Given the description of an element on the screen output the (x, y) to click on. 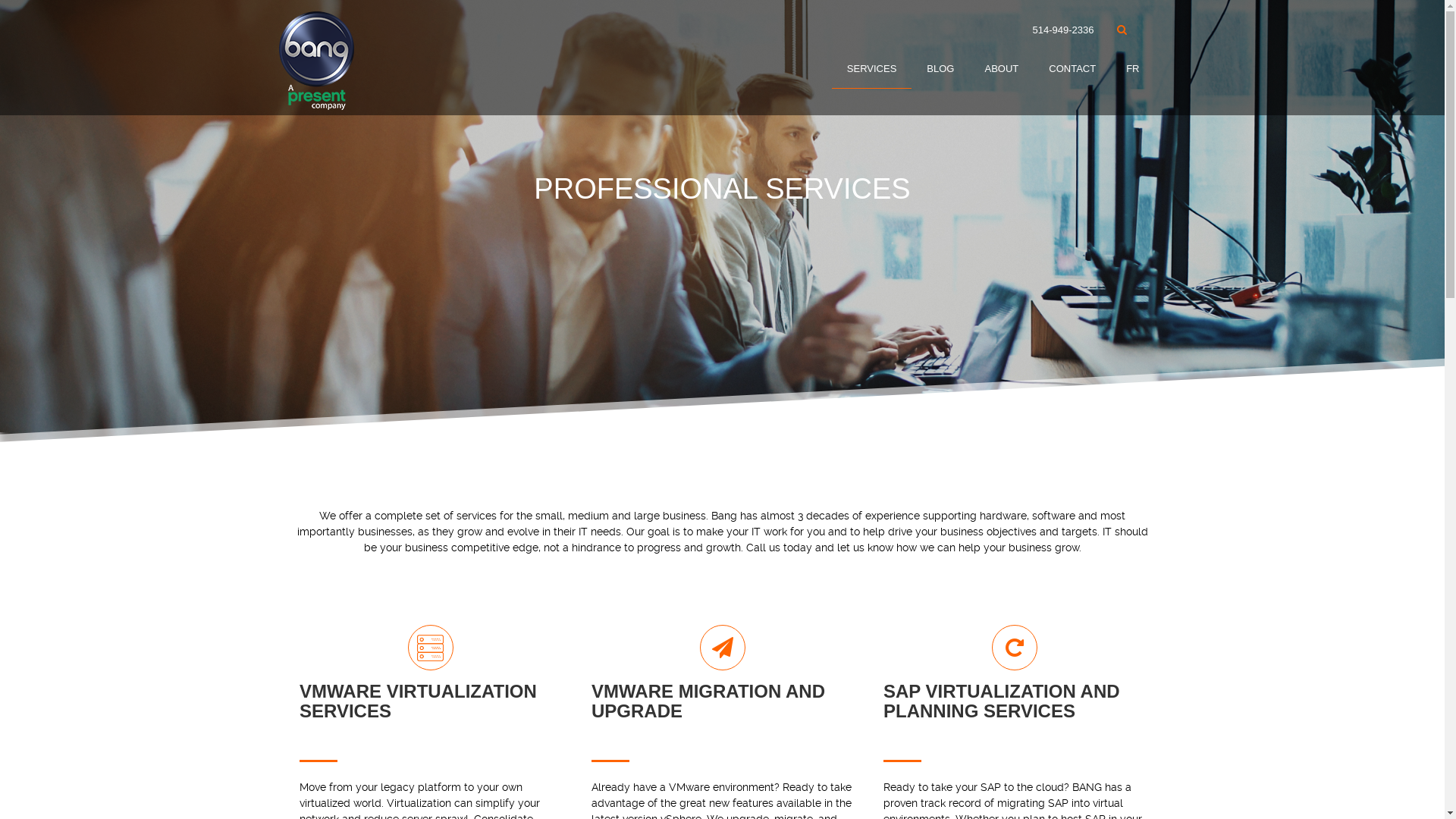
SERVICES Element type: text (871, 69)
514-949-2336 Element type: text (1063, 30)
BLOG Element type: text (940, 69)
CONTACT Element type: text (1071, 69)
FR Element type: text (1132, 69)
ABOUT Element type: text (1001, 69)
